Given the description of an element on the screen output the (x, y) to click on. 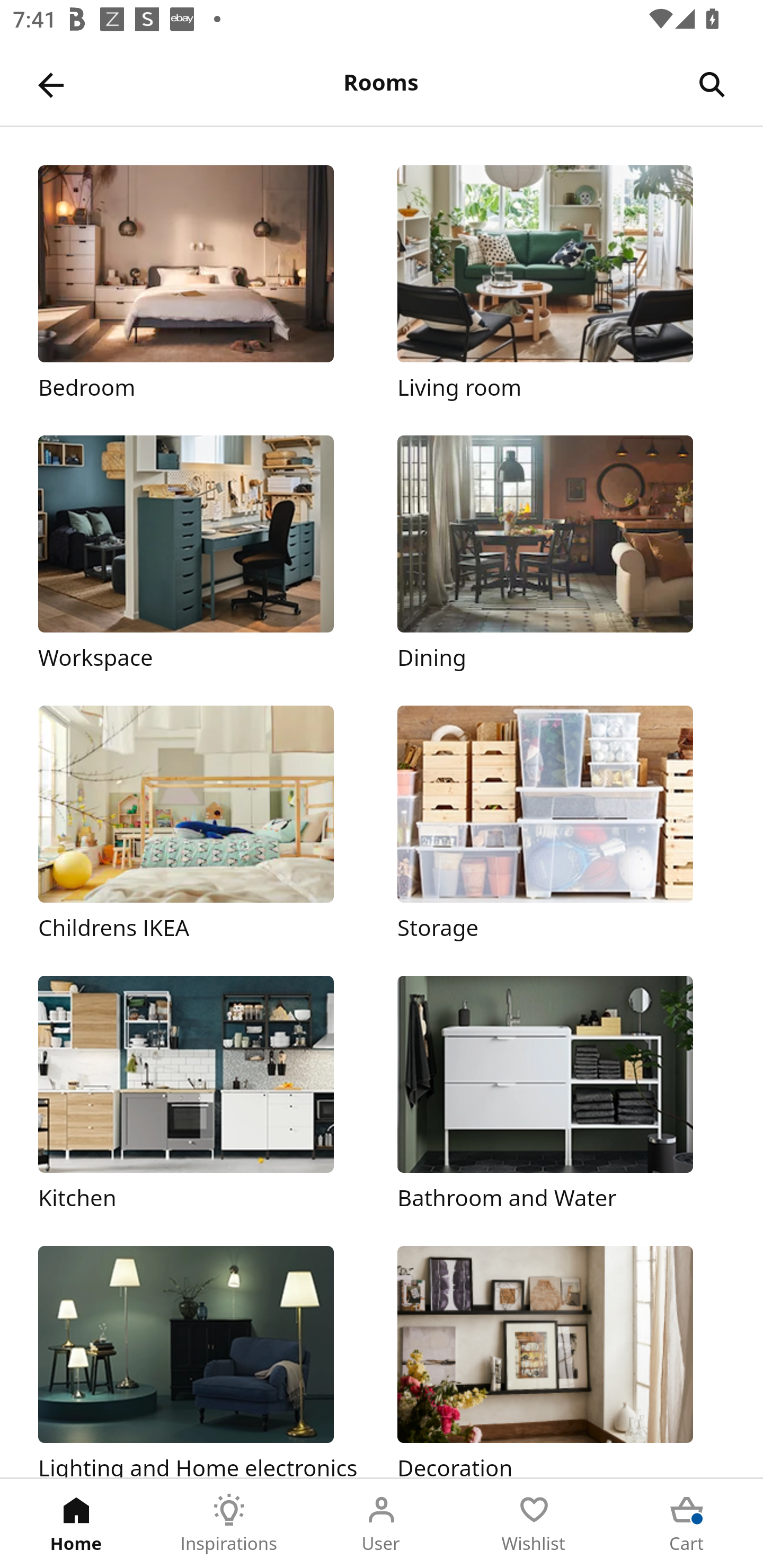
Bedroom (201, 283)
Living room (560, 283)
Workspace (201, 554)
Dining (560, 554)
Childrens IKEA (201, 824)
Storage (560, 824)
Kitchen (201, 1094)
Bathroom and Water (560, 1094)
Lighting and Home electronics (201, 1361)
Decoration (560, 1361)
Home
Tab 1 of 5 (76, 1522)
Inspirations
Tab 2 of 5 (228, 1522)
User
Tab 3 of 5 (381, 1522)
Wishlist
Tab 4 of 5 (533, 1522)
Cart
Tab 5 of 5 (686, 1522)
